Given the description of an element on the screen output the (x, y) to click on. 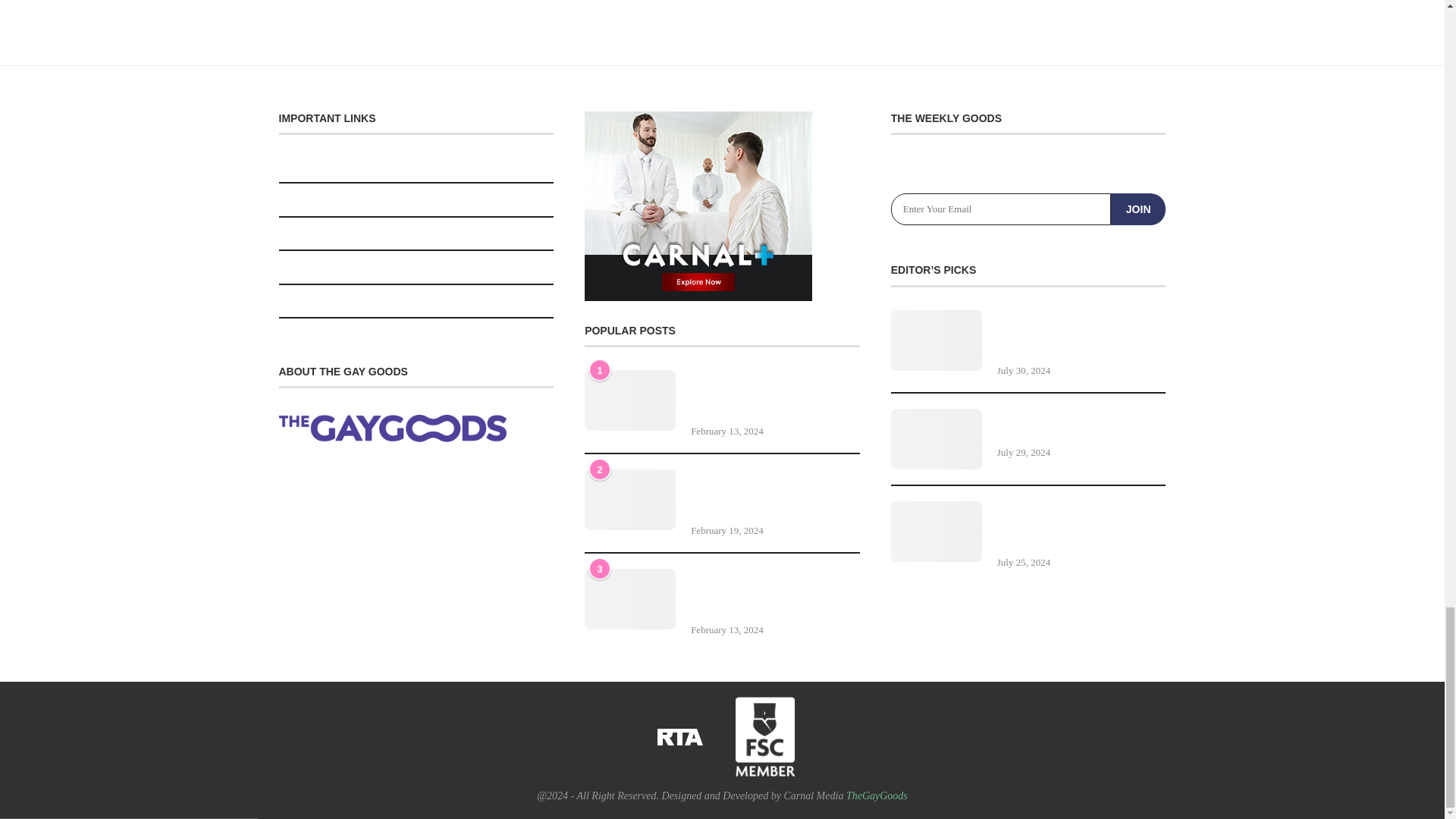
Join (1138, 209)
